Given the description of an element on the screen output the (x, y) to click on. 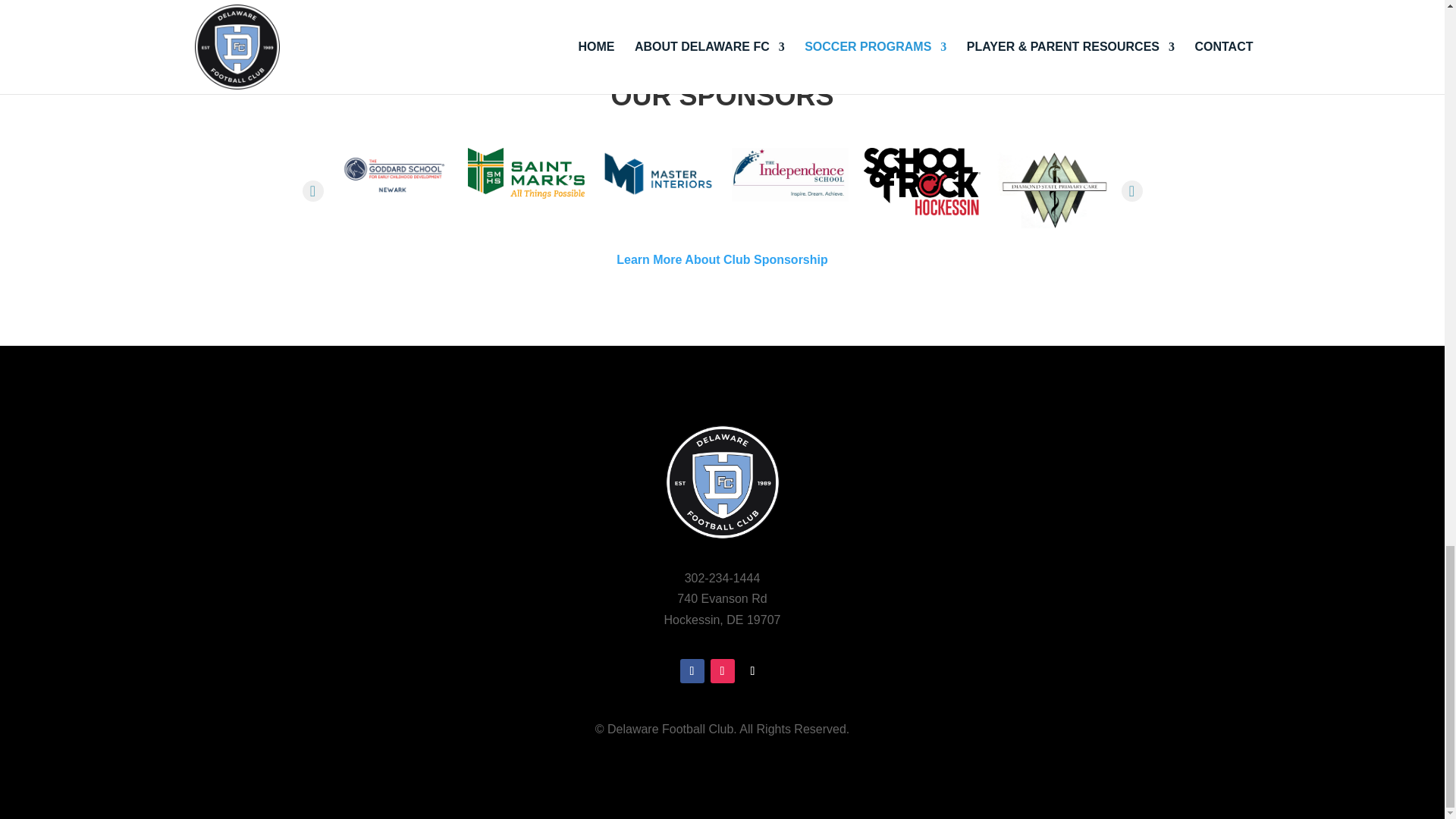
DSPC Logo (1053, 190)
Stacked-Main (921, 181)
